Given the description of an element on the screen output the (x, y) to click on. 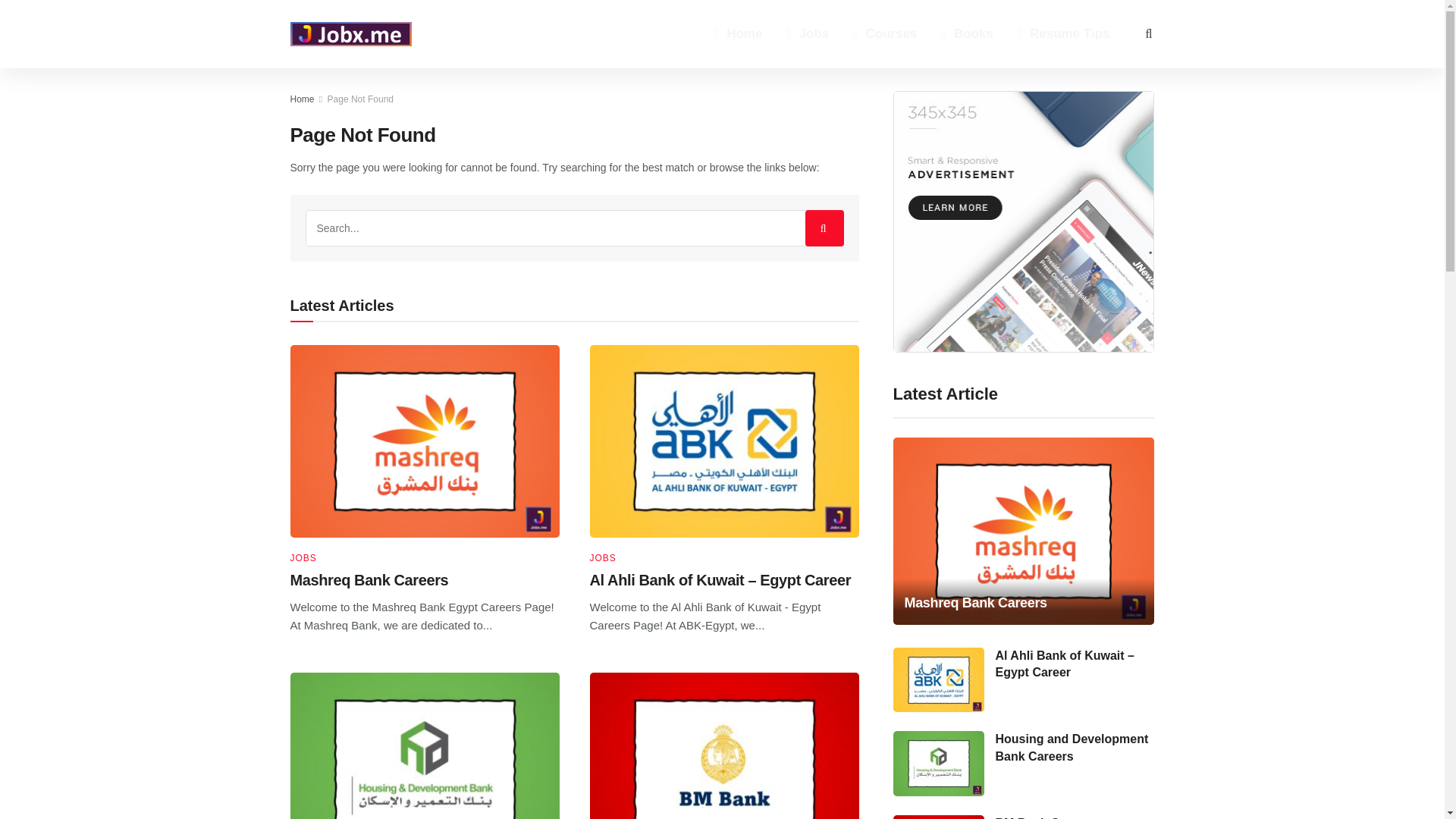
Home (737, 33)
Mashreq Bank Careers (368, 579)
JOBS (602, 557)
Jobs (807, 33)
Home (301, 99)
Courses (884, 33)
Resume Tips (1064, 33)
Page Not Found (360, 99)
Books (968, 33)
JOBS (302, 557)
